Given the description of an element on the screen output the (x, y) to click on. 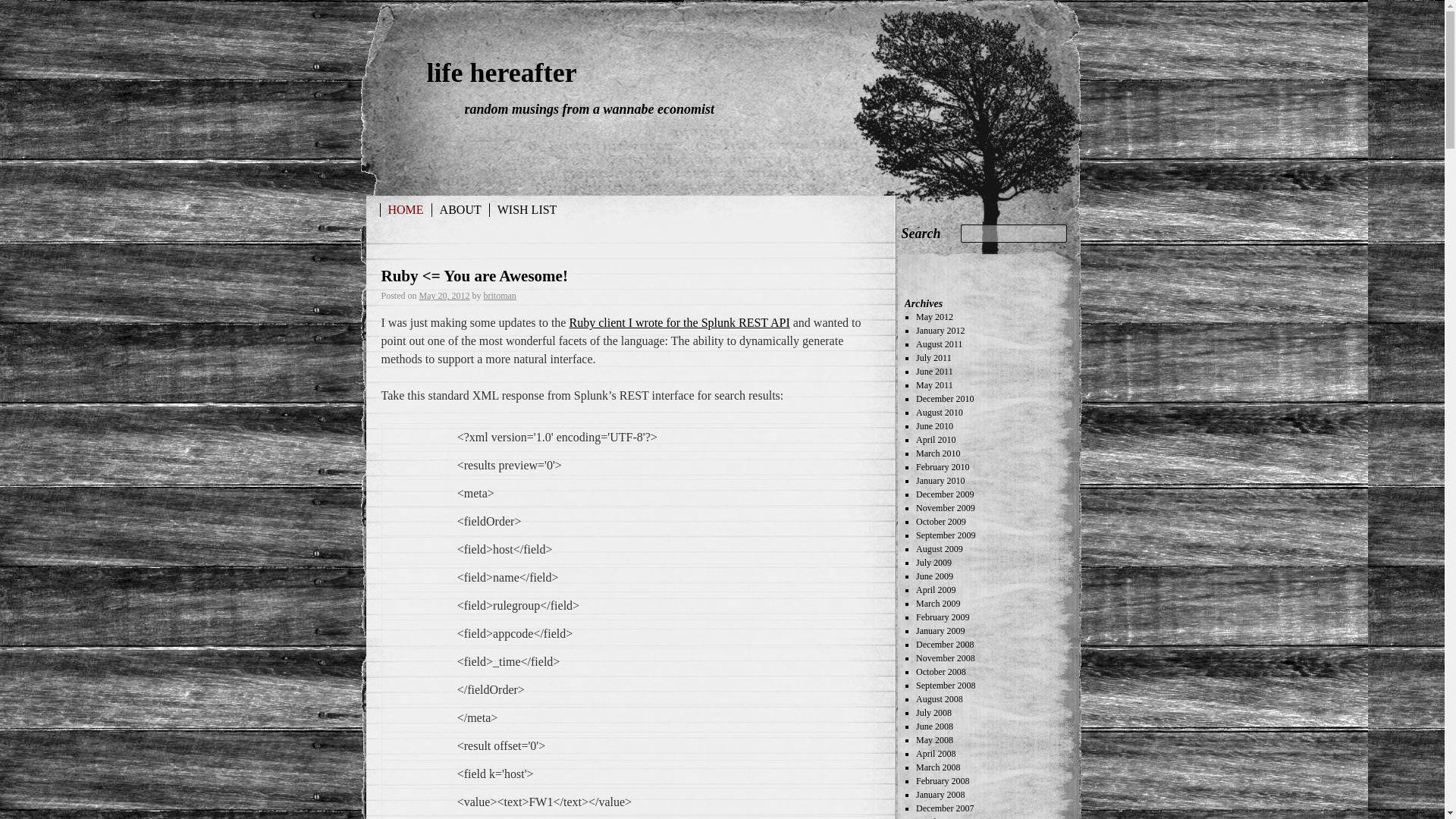
4:28 pm (444, 295)
HOME (405, 210)
Search (920, 233)
life hereafter (501, 72)
life hereafter (501, 72)
WISH LIST (526, 210)
ABOUT (460, 210)
May 20, 2012 (444, 295)
Search (920, 233)
Permalink to Ruby  (473, 275)
Ruby client I wrote for the Splunk REST API (679, 322)
View all posts by britoman (499, 295)
britoman (499, 295)
